Given the description of an element on the screen output the (x, y) to click on. 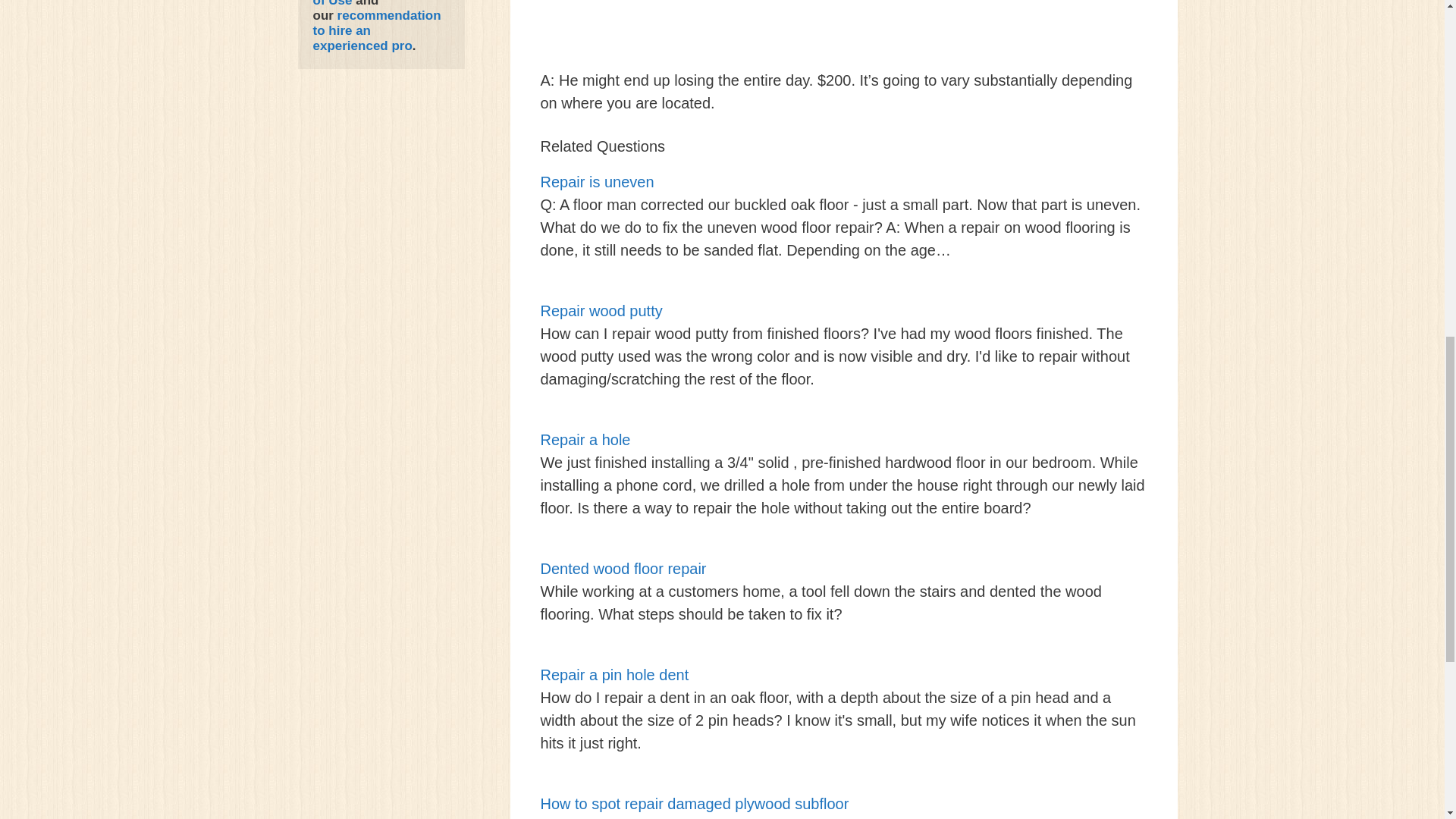
Advertisement (843, 34)
Scroll back to top (1406, 720)
